Given the description of an element on the screen output the (x, y) to click on. 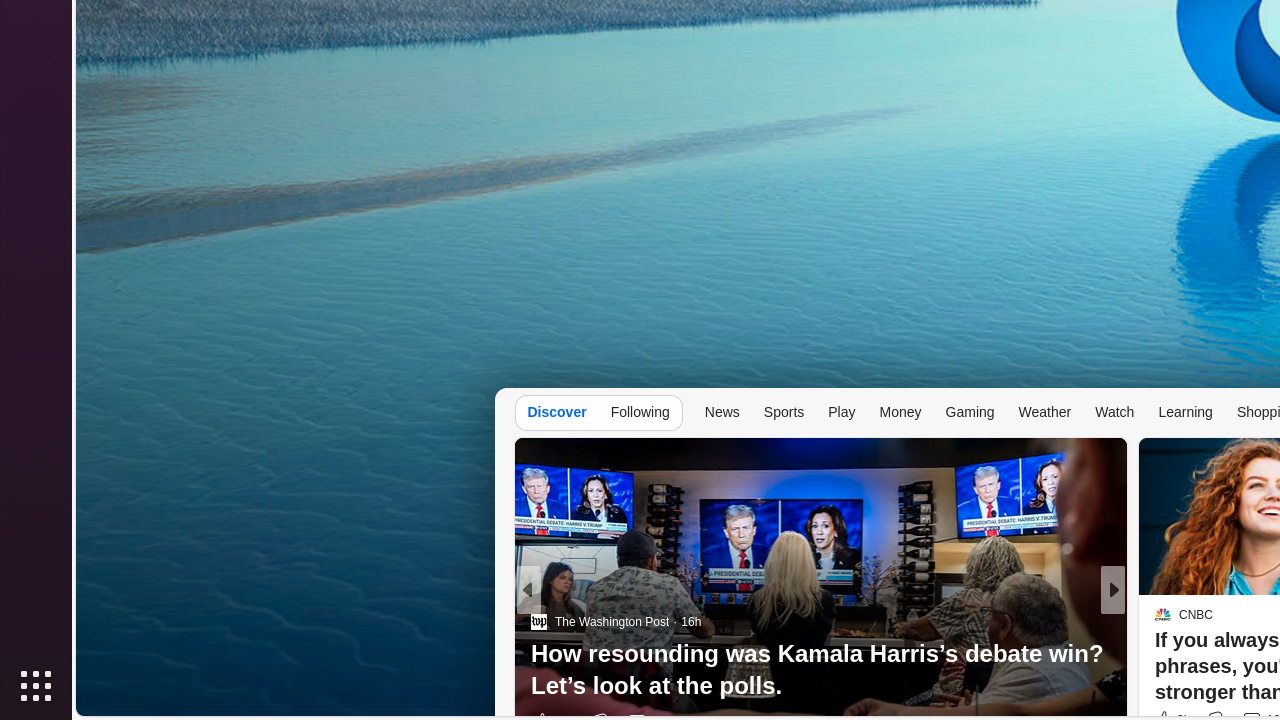
Show Applications Element type: toggle-button (36, 686)
Gaming Element type: link (970, 412)
Forge of Empires Element type: link (1192, 654)
Weather Element type: link (1045, 412)
Learning Element type: link (1185, 412)
